Given the description of an element on the screen output the (x, y) to click on. 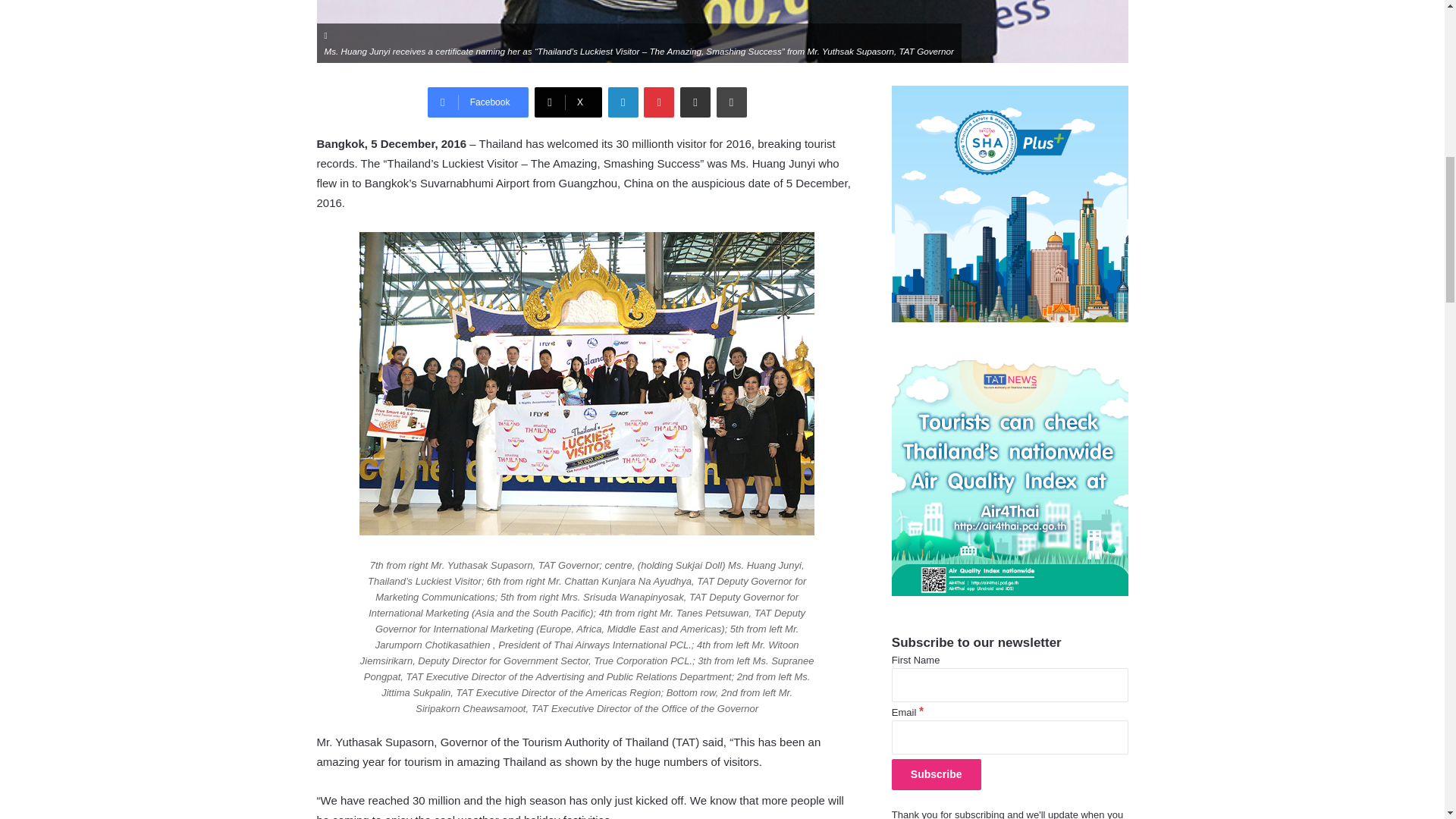
Subscribe (936, 774)
Print (731, 101)
Pinterest (658, 101)
Pinterest (658, 101)
Share via Email (694, 101)
Share via Email (694, 101)
X (568, 101)
LinkedIn (623, 101)
X (568, 101)
Print (731, 101)
Facebook (478, 101)
Facebook (478, 101)
LinkedIn (623, 101)
